Given the description of an element on the screen output the (x, y) to click on. 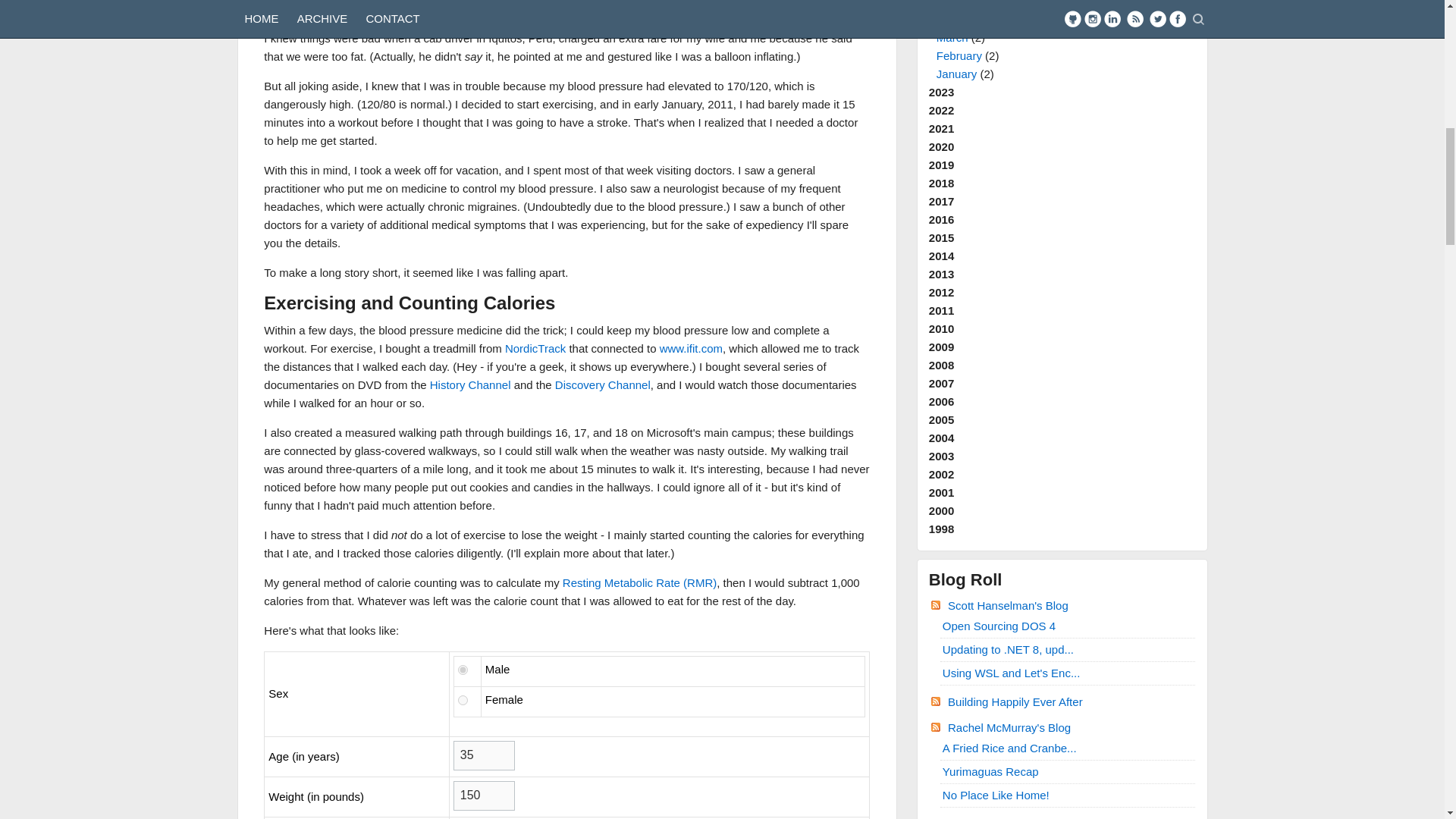
Male (462, 669)
History Channel (470, 384)
Female (462, 700)
Discovery Channel (602, 384)
35 (483, 755)
150 (483, 795)
www.ifit.com (690, 348)
NordicTrack (535, 348)
